Given the description of an element on the screen output the (x, y) to click on. 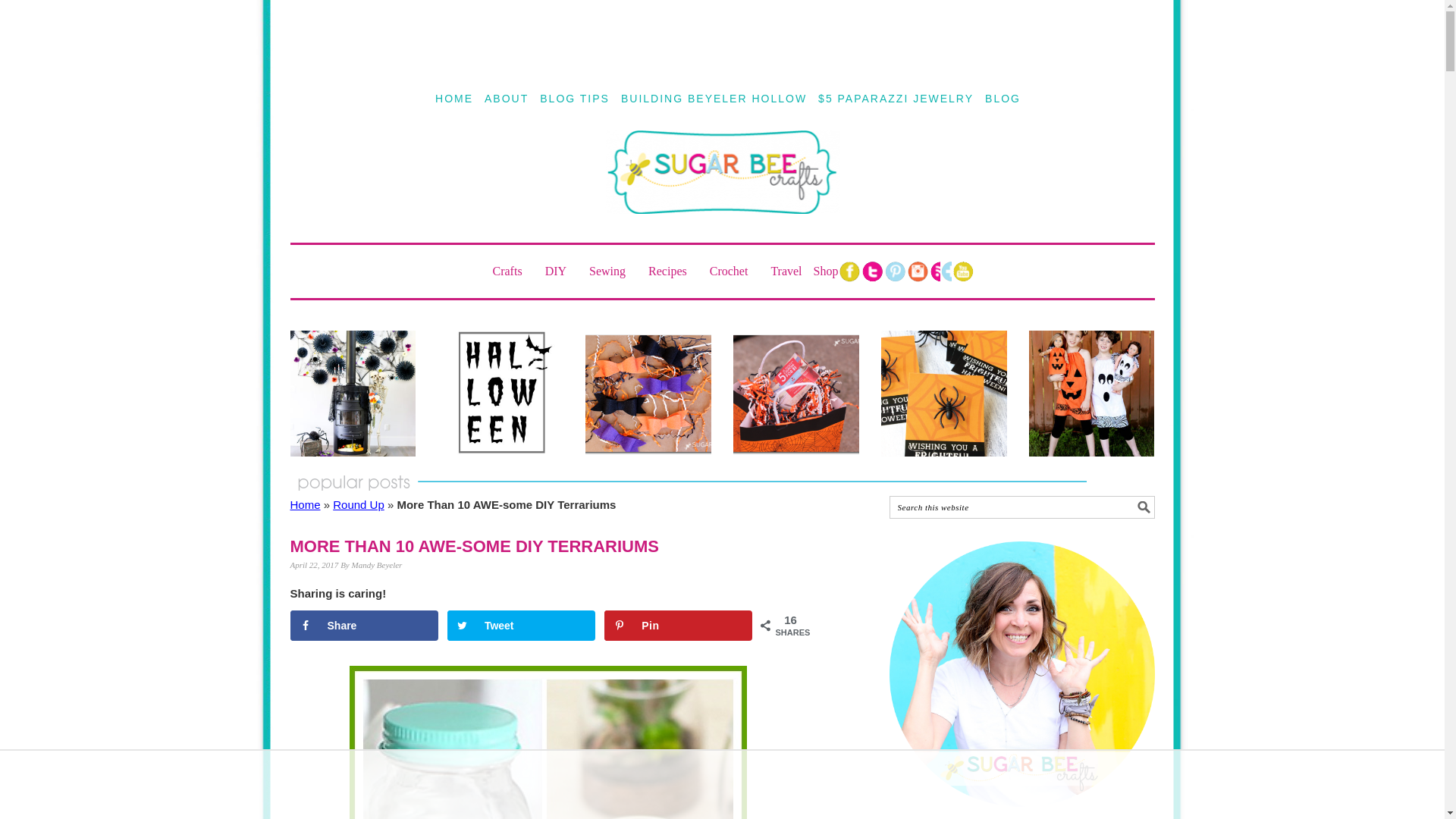
Travel (785, 271)
BLOG (1003, 98)
DIY (561, 271)
Crafts (512, 271)
Halloween Treats (796, 393)
Easy Halloween Felt Bows (648, 393)
Halloween Treat Cards (943, 393)
SUGAR BEE CRAFTS (721, 185)
Halloween Mantel Decor Idea (351, 393)
BUILDING BEYELER HOLLOW (714, 98)
Sewing (612, 271)
Recipes (673, 271)
